Given the description of an element on the screen output the (x, y) to click on. 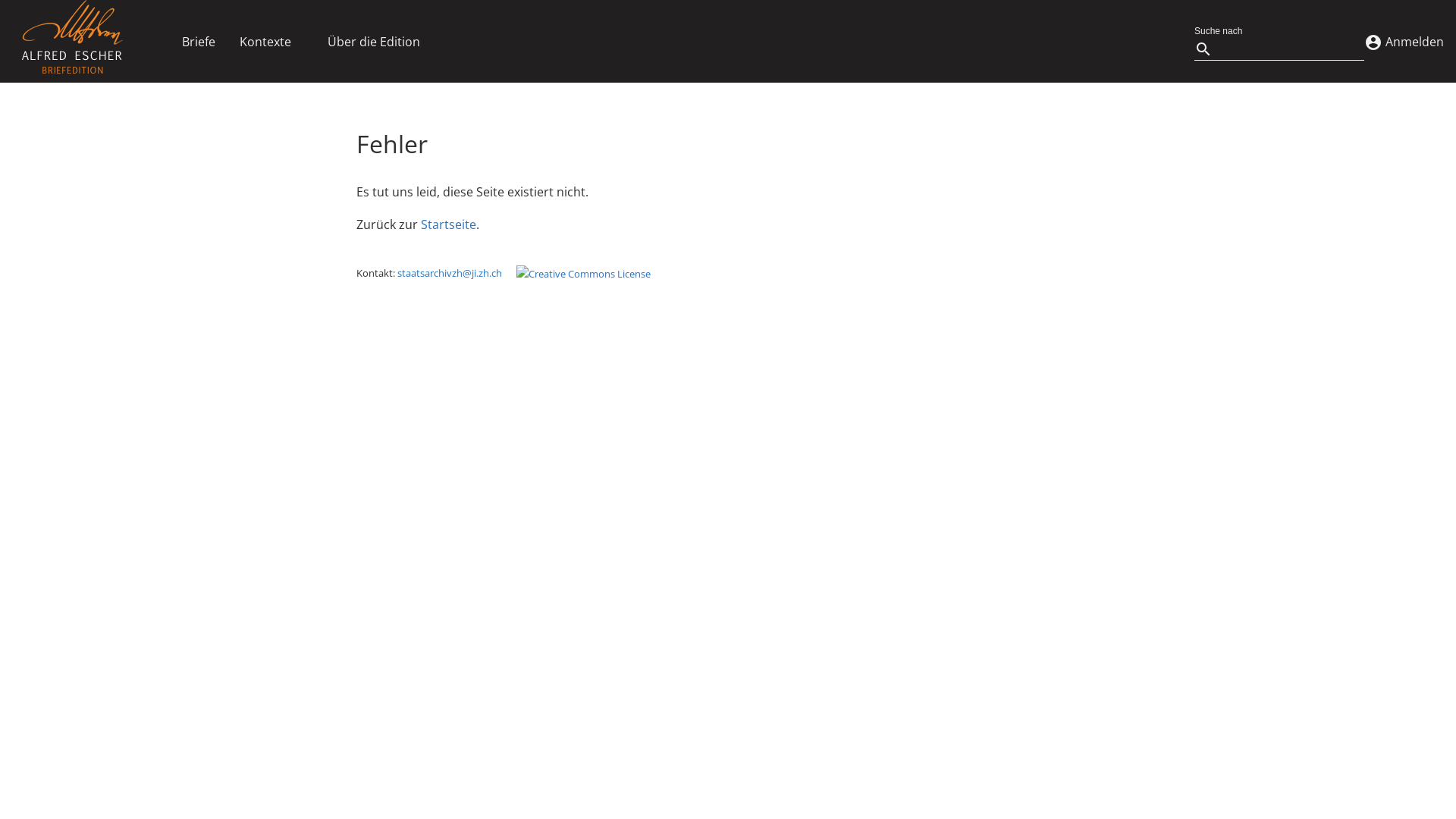
Startseite Element type: text (448, 224)
Briefe Element type: text (198, 40)
staatsarchivzh@ji.zh.ch Element type: text (449, 272)
Kontexte Element type: text (265, 40)
